Given the description of an element on the screen output the (x, y) to click on. 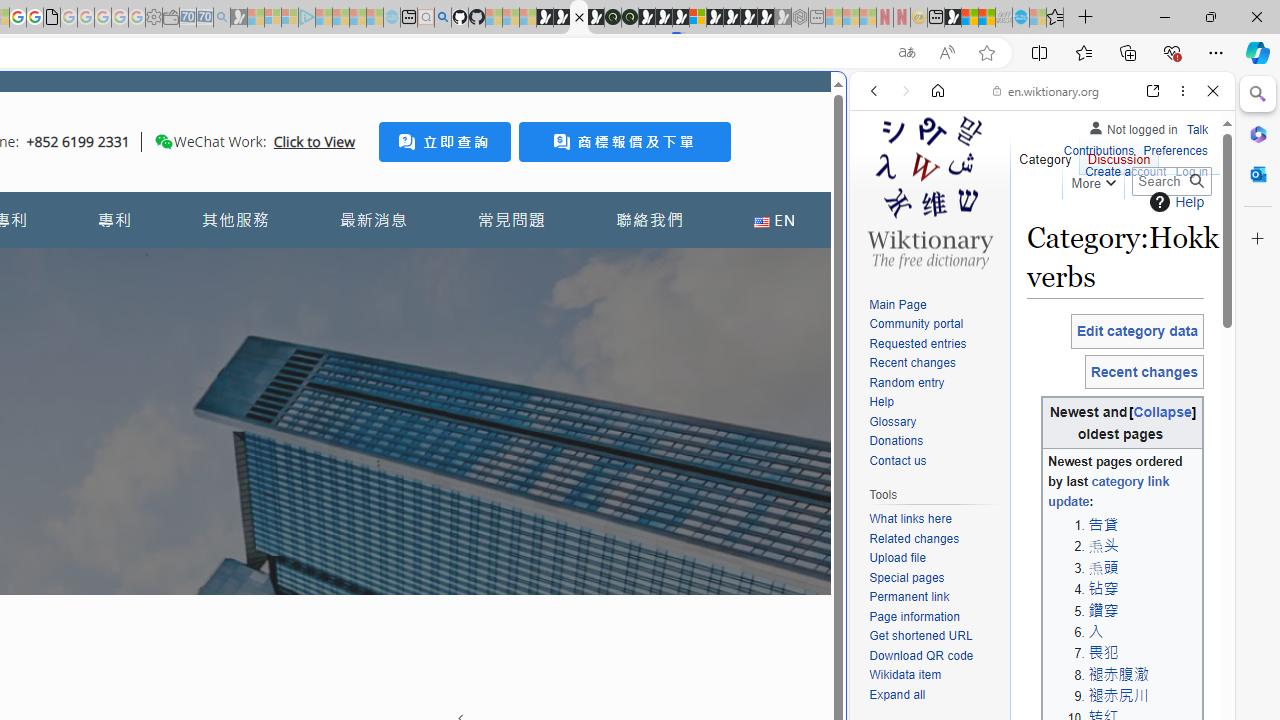
What links here (934, 519)
Main Page (897, 303)
